Given the description of an element on the screen output the (x, y) to click on. 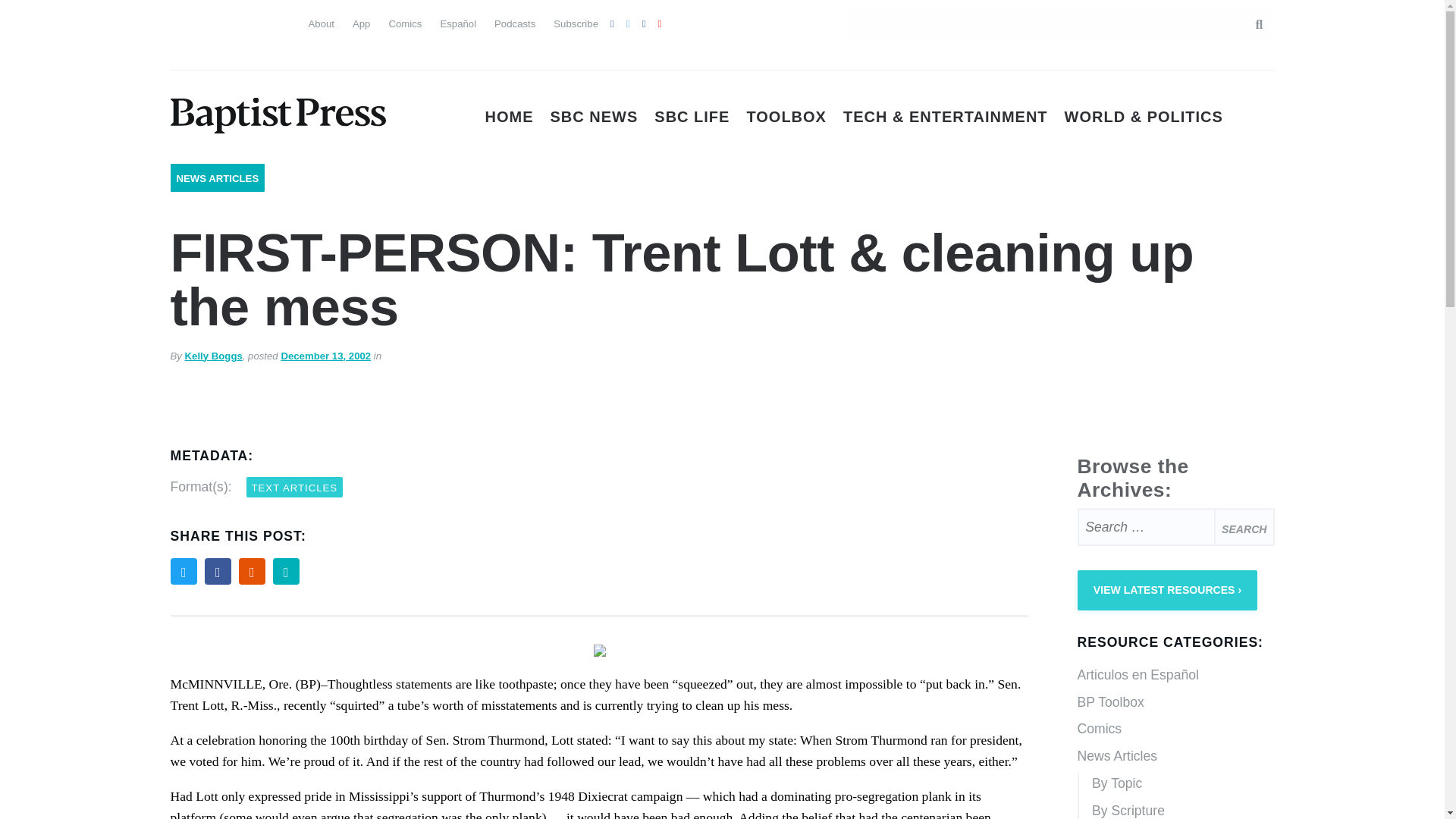
TOOLBOX (786, 116)
Podcasts (515, 23)
BP Toolbox (1175, 703)
Search (1244, 526)
Haitian (182, 51)
Spanish (209, 21)
VIEW LATEST RESOURCES (1167, 590)
Subscribe (575, 23)
Portuguese (237, 21)
Comics (405, 23)
